Given the description of an element on the screen output the (x, y) to click on. 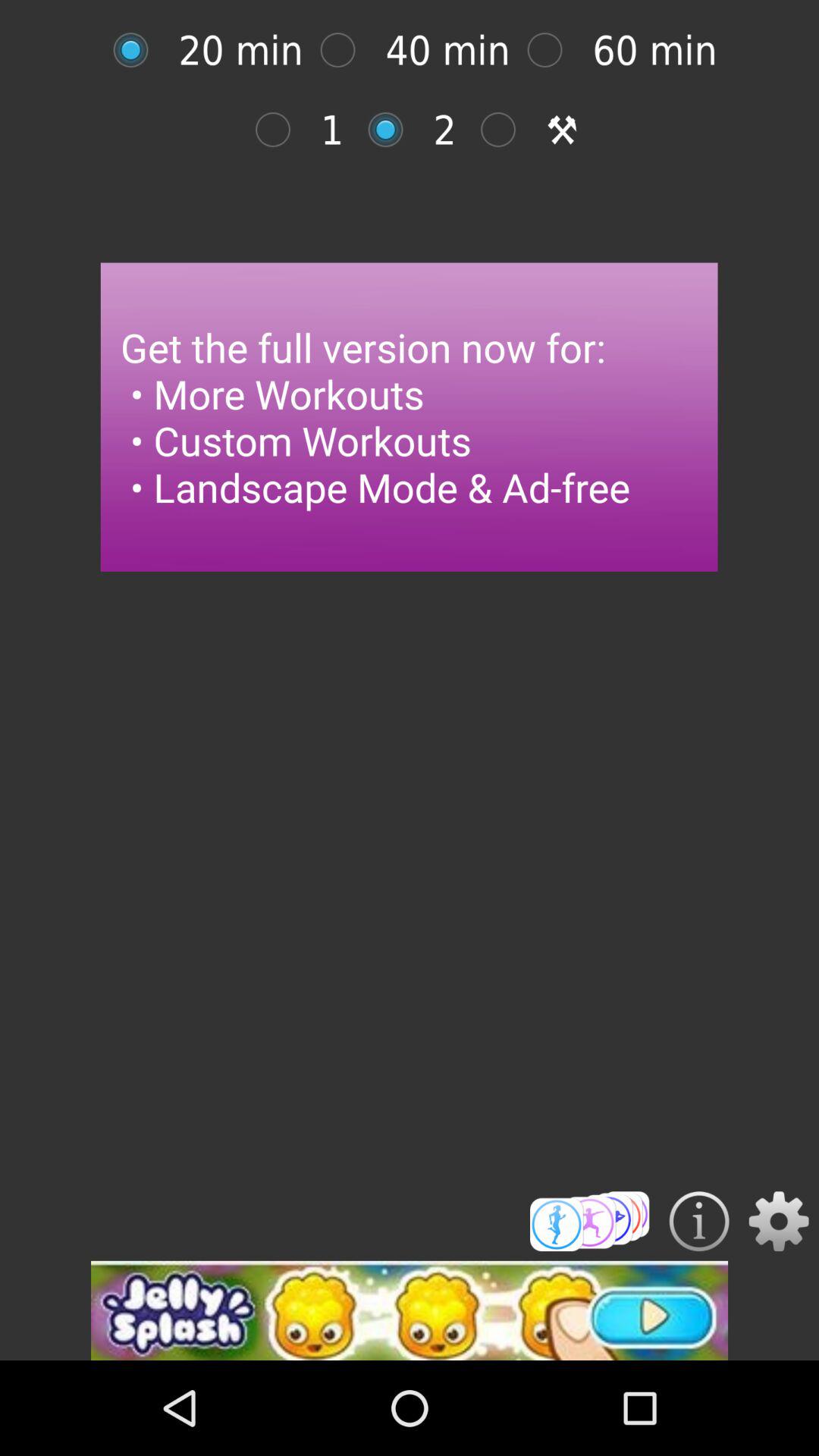
select an option (280, 129)
